Given the description of an element on the screen output the (x, y) to click on. 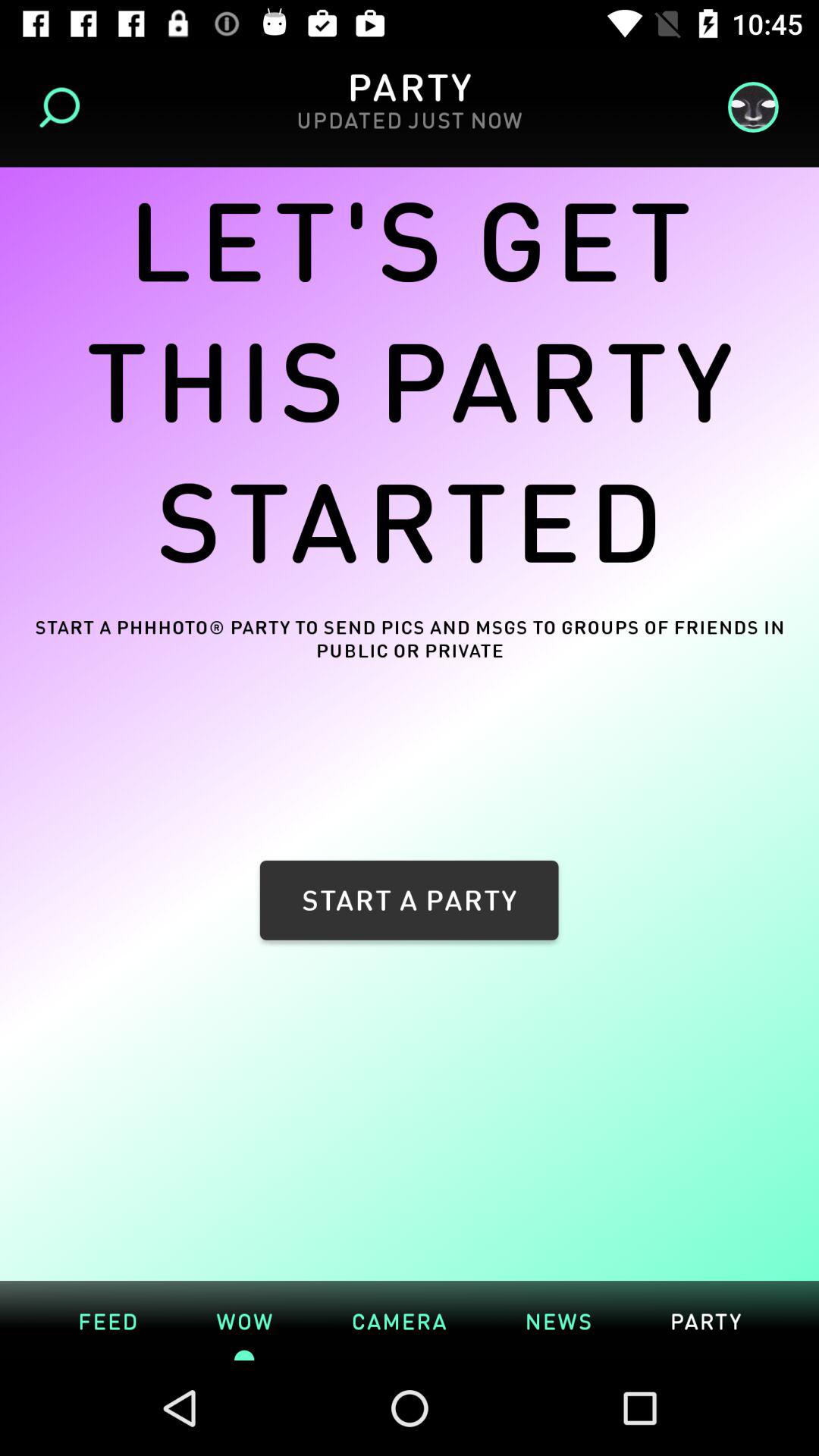
click icon to the left of updated just now icon (64, 107)
